Given the description of an element on the screen output the (x, y) to click on. 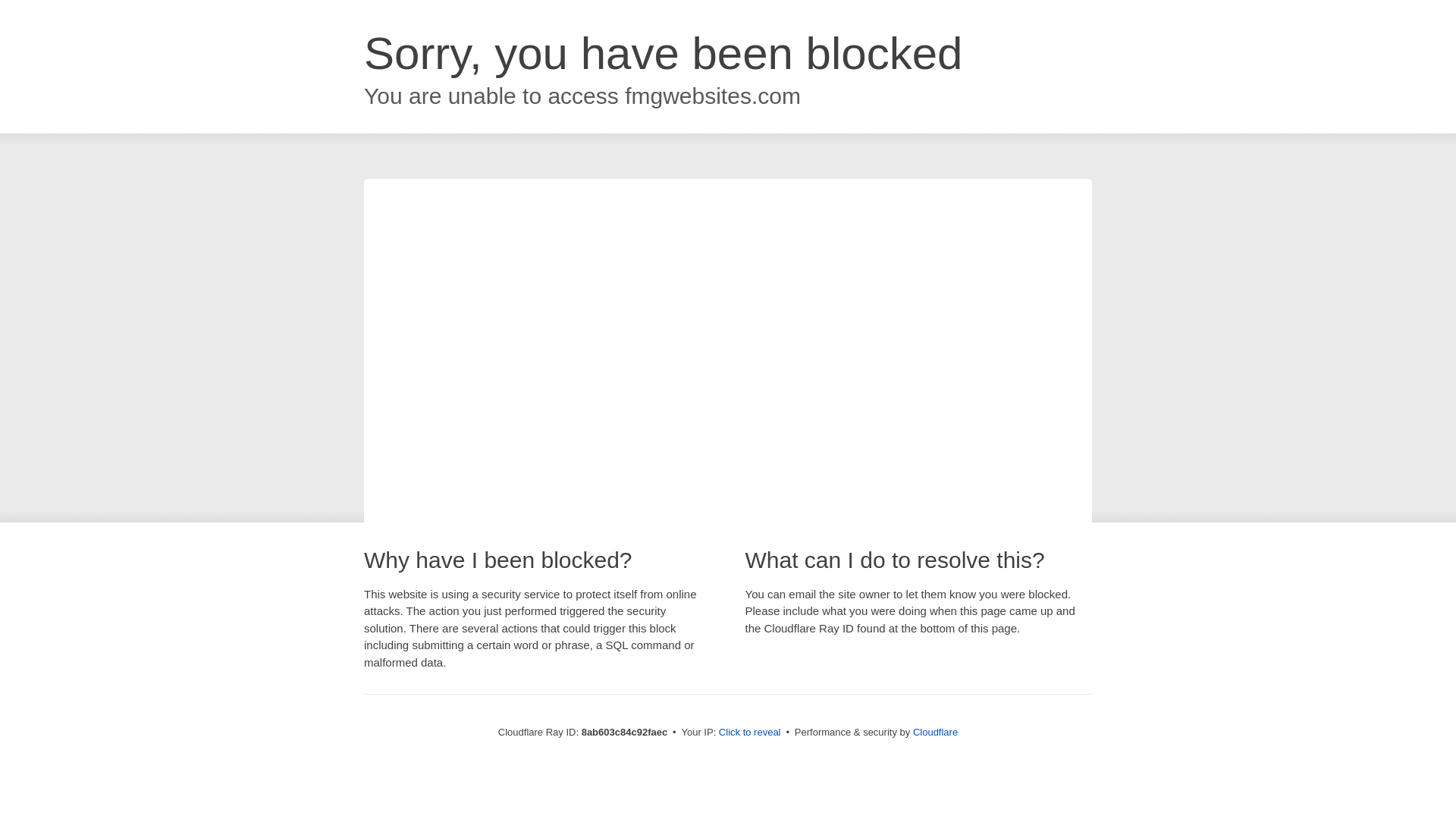
Click to reveal (749, 732)
Cloudflare (935, 731)
